Given the description of an element on the screen output the (x, y) to click on. 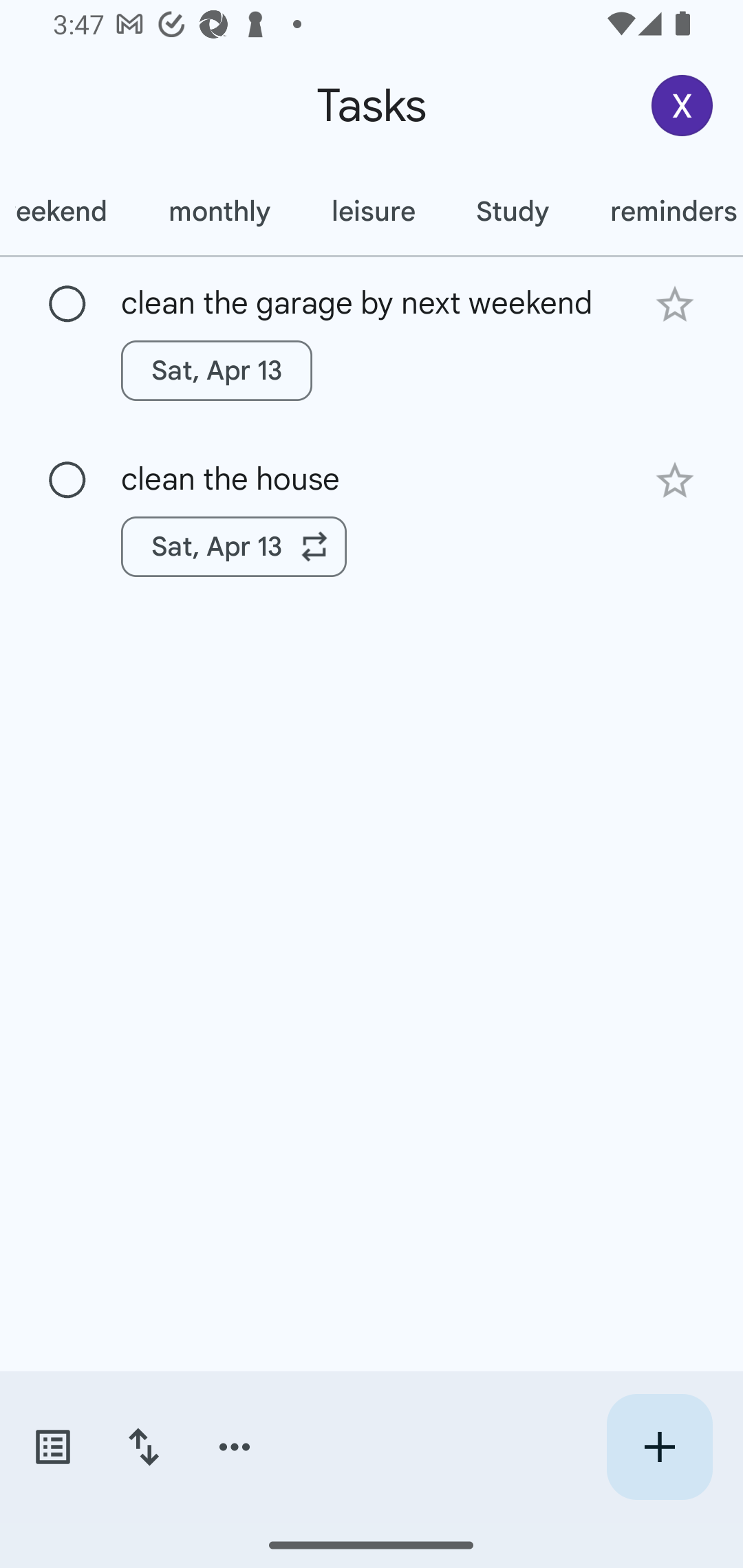
weekend (68, 211)
monthly (218, 211)
leisure (372, 211)
Study (512, 211)
reminders (661, 211)
Add star (674, 303)
Mark as complete (67, 304)
Sat, Apr 13 (216, 369)
Add star (674, 480)
Mark as complete (67, 480)
Sat, Apr 13 (233, 546)
Switch task lists (52, 1447)
Create new task (659, 1446)
Change sort order (143, 1446)
More options (234, 1446)
